Given the description of an element on the screen output the (x, y) to click on. 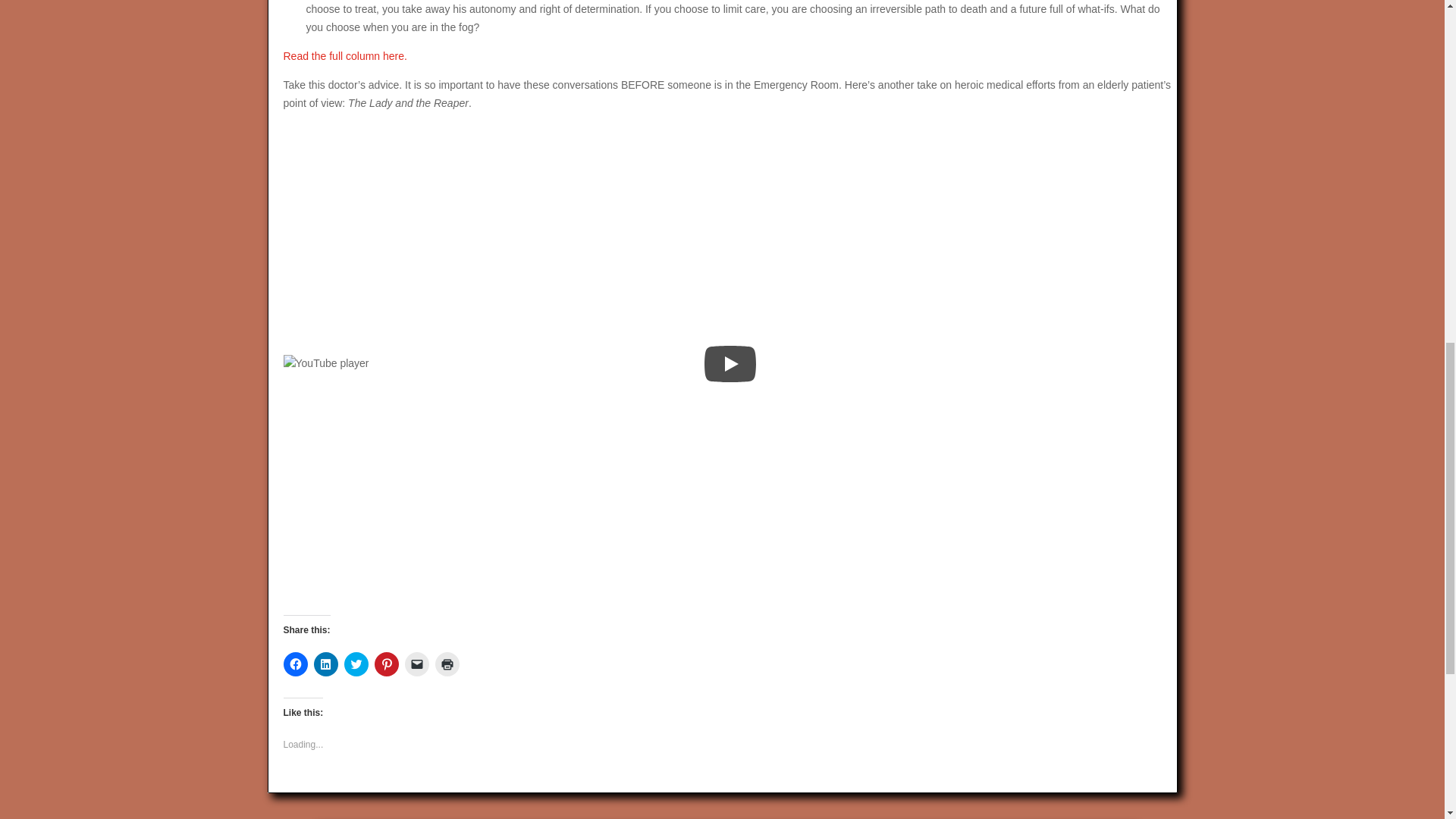
Click to share on Facebook (295, 663)
Click to share on Twitter (355, 663)
Click to print (447, 663)
Click to email a link to a friend (416, 663)
Click to share on LinkedIn (325, 663)
Click to share on Pinterest (386, 663)
